Given the description of an element on the screen output the (x, y) to click on. 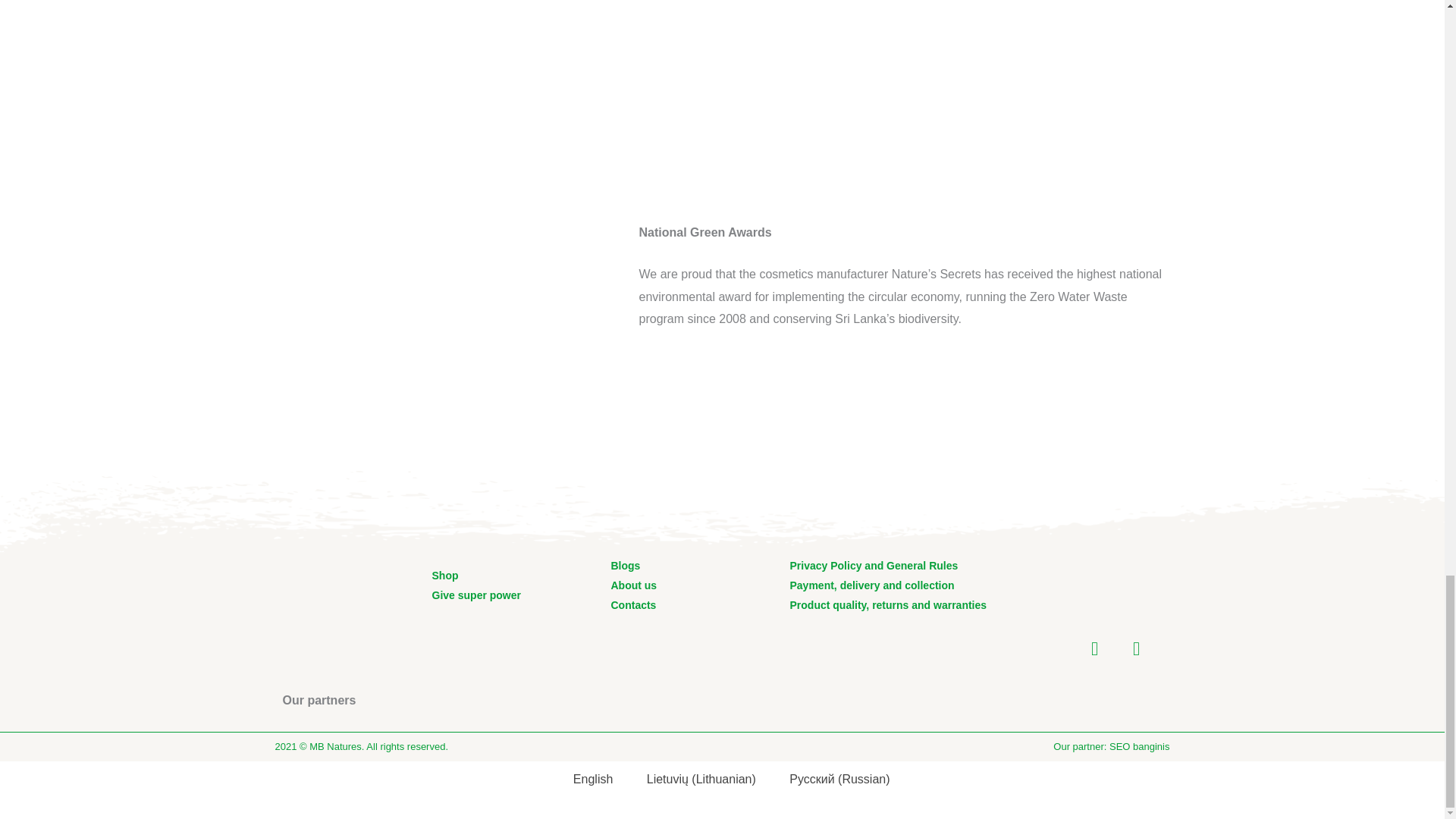
Contacts (633, 605)
Product quality, returns and warranties (888, 605)
Blogs (625, 565)
Privacy Policy and General Rules (874, 565)
Payment, delivery and collection (871, 585)
Give super power (475, 595)
About us (633, 585)
Shop (445, 575)
